Given the description of an element on the screen output the (x, y) to click on. 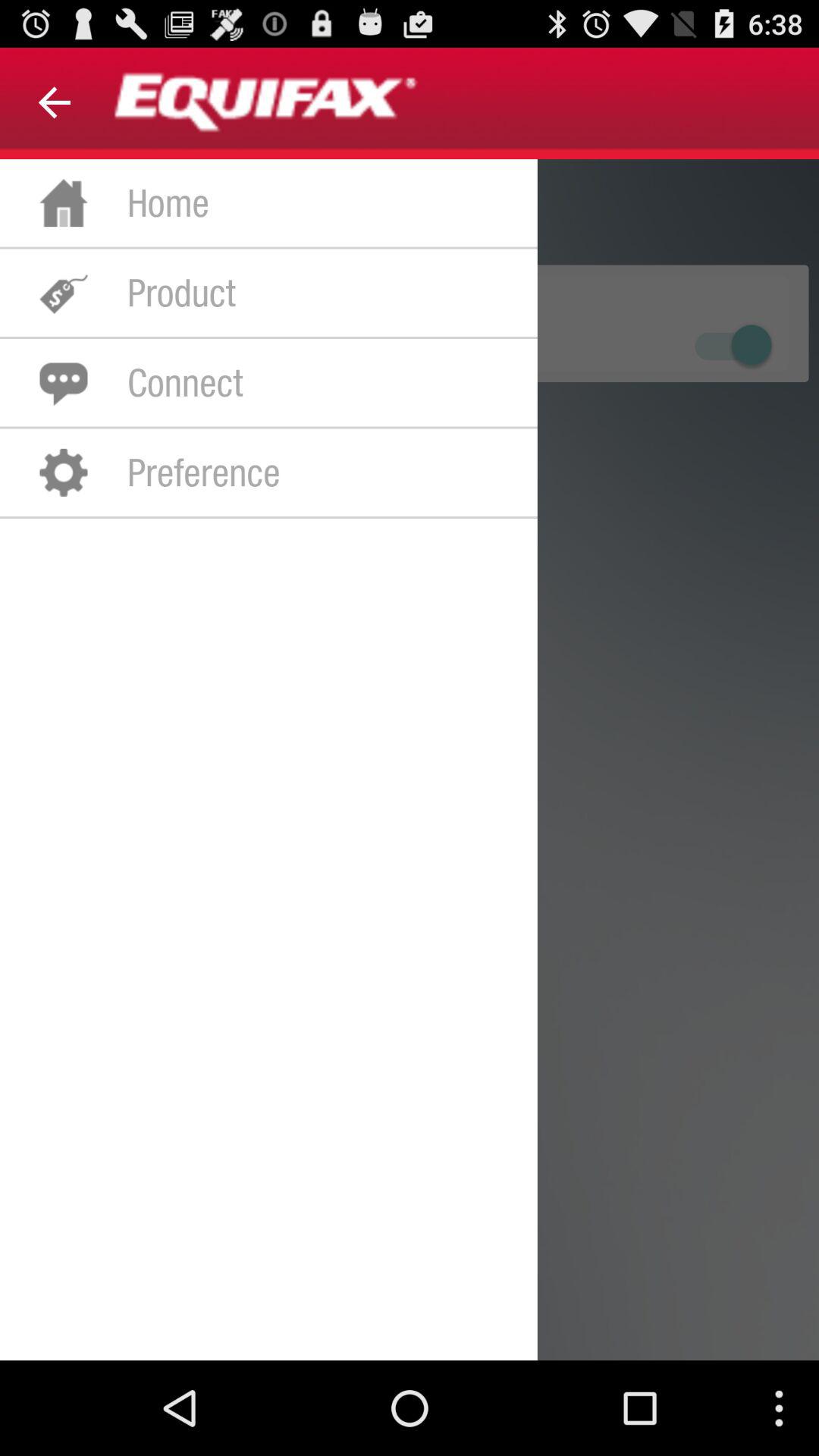
hide button (731, 344)
